Given the description of an element on the screen output the (x, y) to click on. 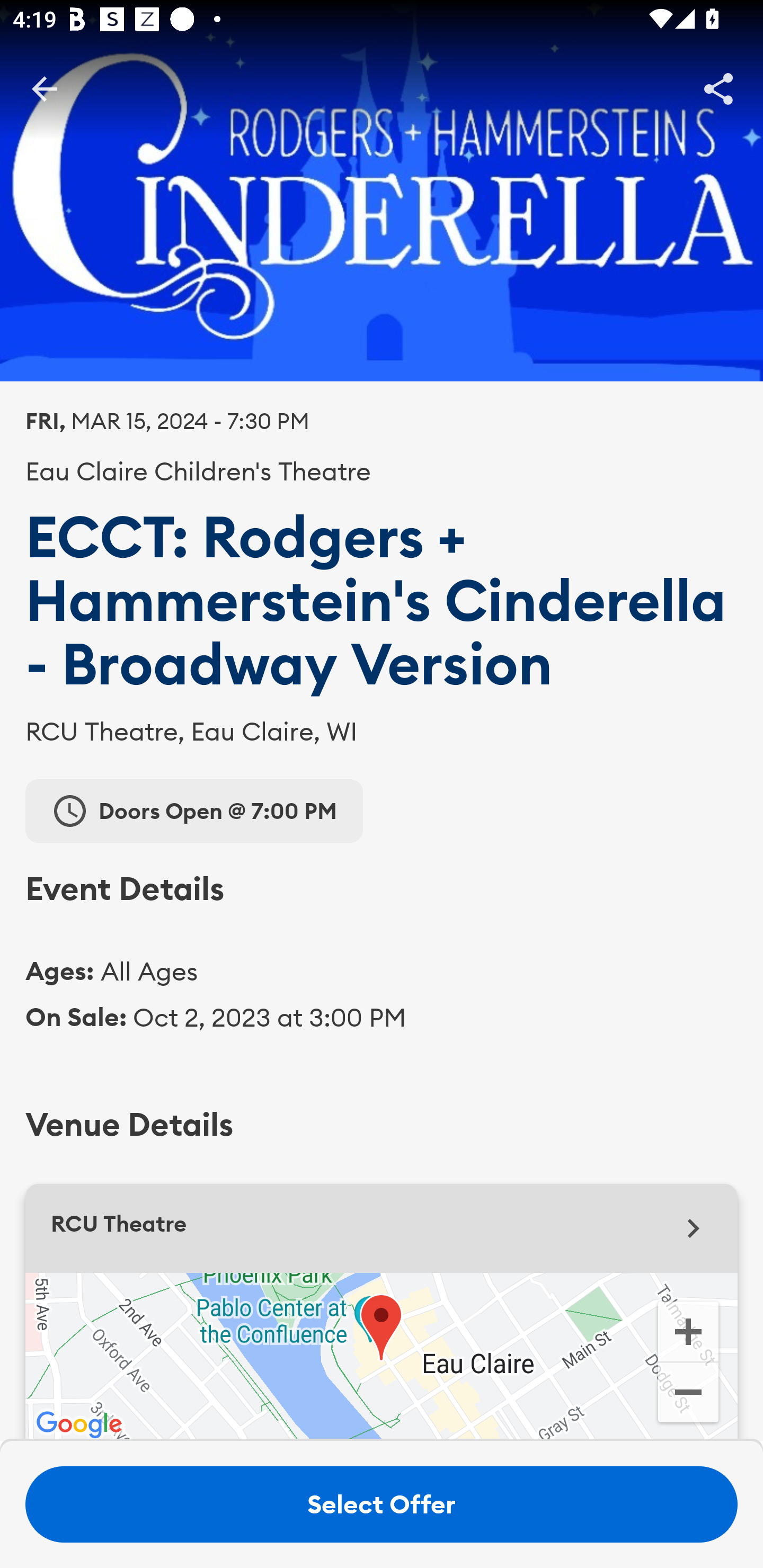
BackButton (44, 88)
Share (718, 88)
RCU Theatre (381, 1228)
Google Map RCU Theatre.  Zoom in Zoom out (381, 1356)
Zoom in (687, 1330)
Zoom out (687, 1394)
Select Offer (381, 1504)
